Given the description of an element on the screen output the (x, y) to click on. 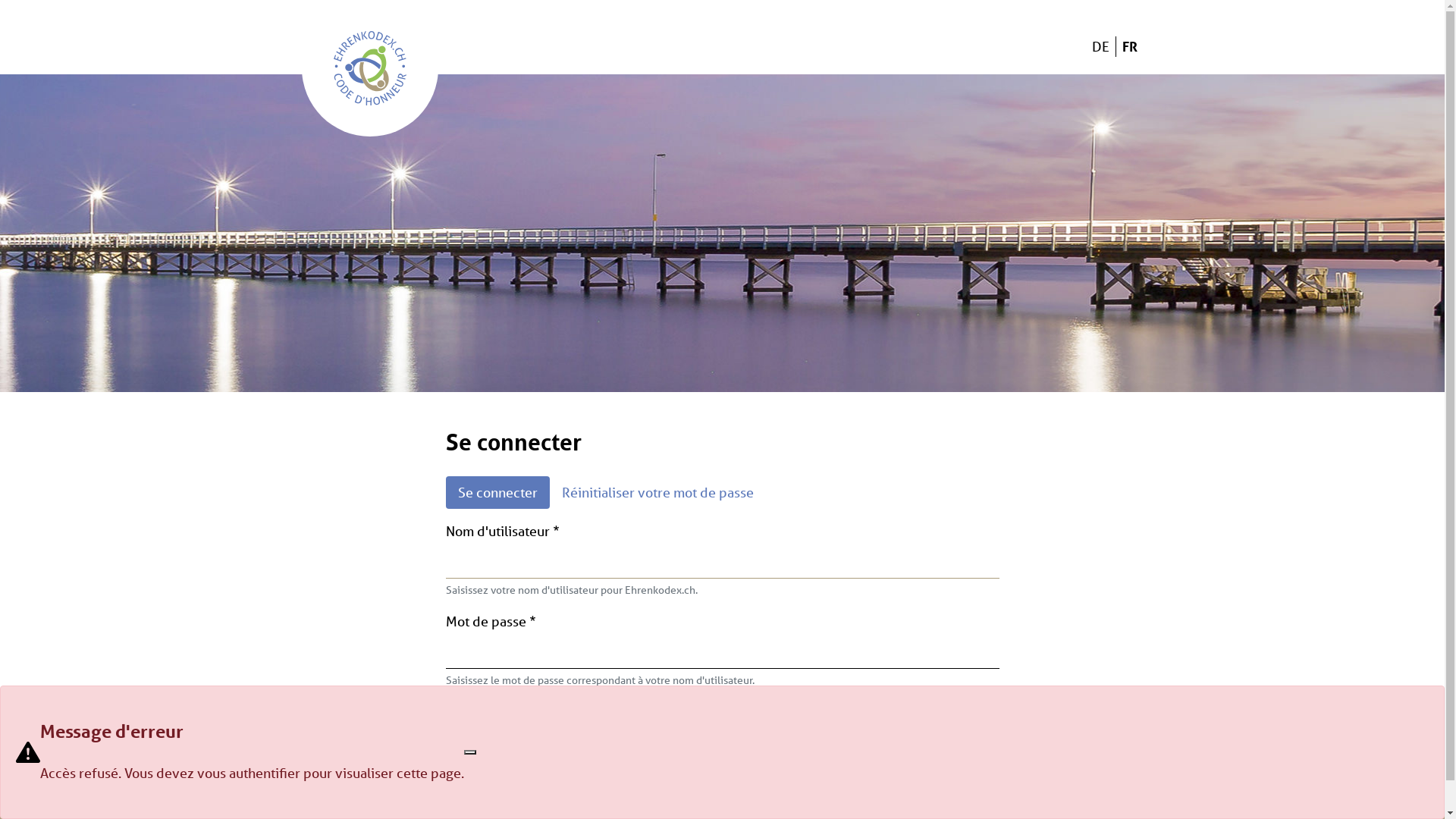
FR Element type: text (1129, 45)
Se connecter Element type: text (511, 716)
Se connecter Element type: text (497, 492)
DE Element type: text (1100, 45)
Accueil Element type: hover (369, 68)
